Given the description of an element on the screen output the (x, y) to click on. 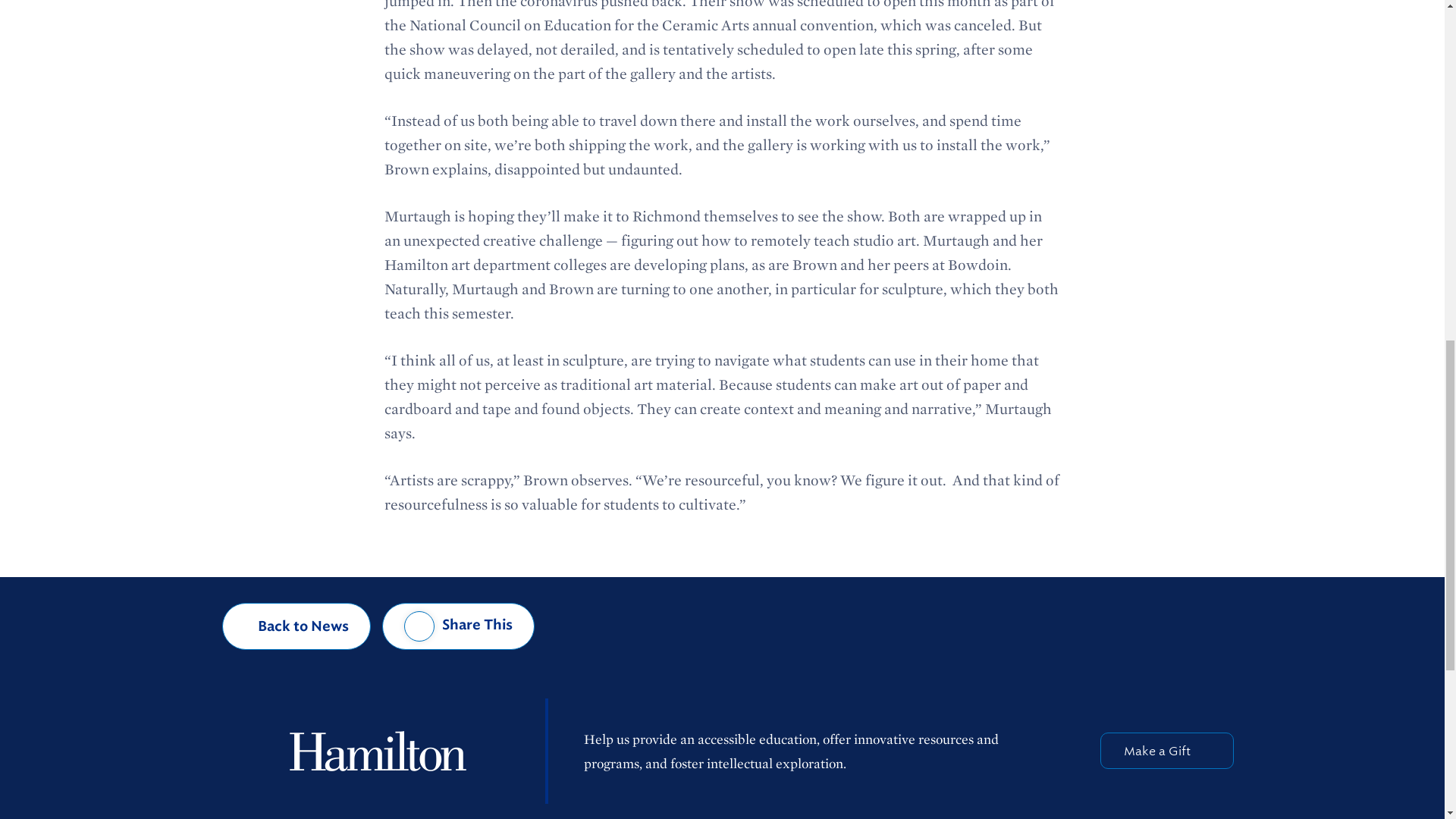
Share This (457, 626)
Make a Gift (1166, 750)
Back to News (296, 626)
